Given the description of an element on the screen output the (x, y) to click on. 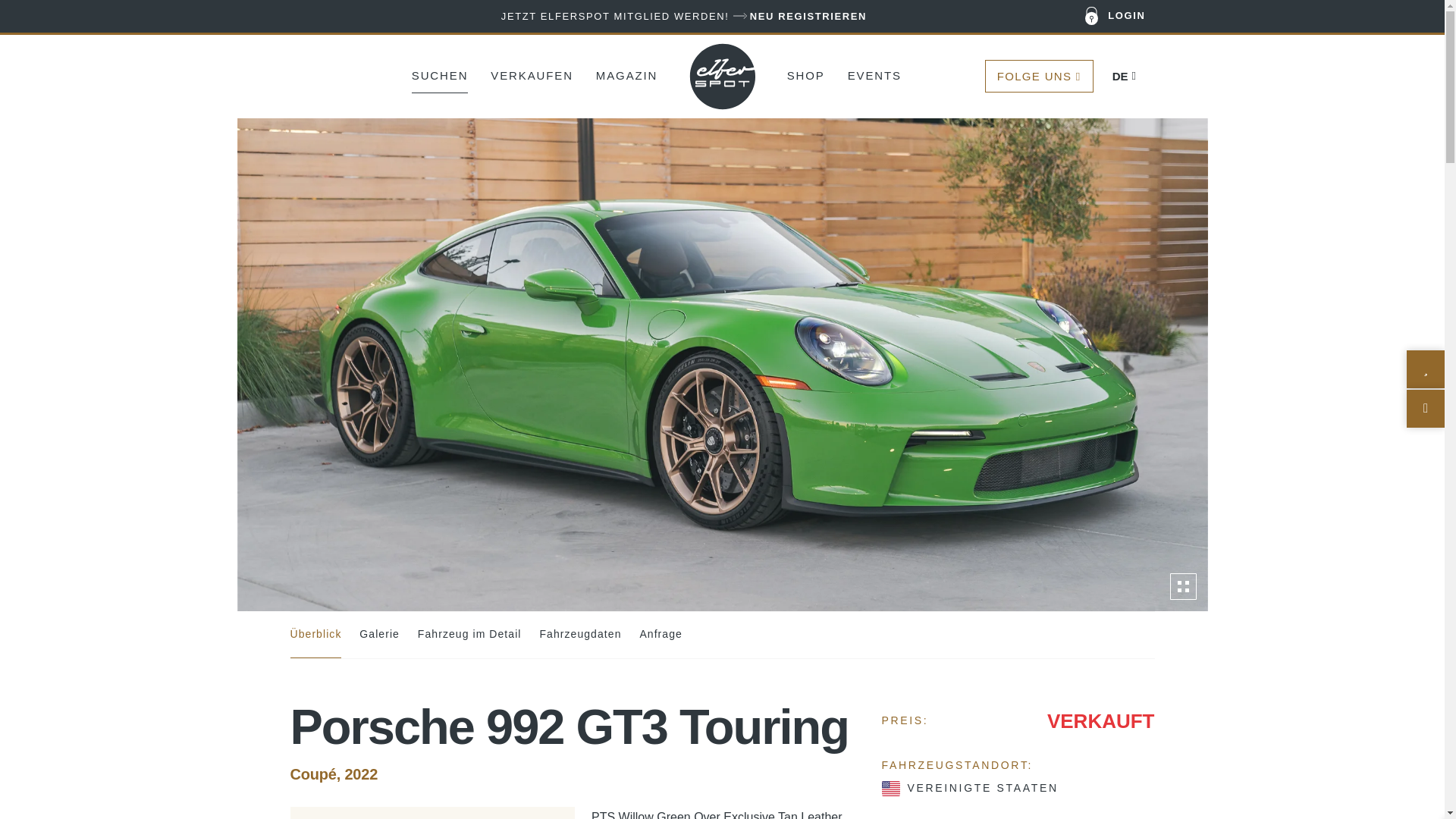
MAGAZIN (626, 74)
LOGIN (1115, 16)
Verkaufen (531, 74)
Events (874, 74)
Elferspot (722, 76)
JETZT ELFERSPOT MITGLIED WERDEN! NEU REGISTRIEREN (683, 15)
Shop (806, 74)
SHOP (806, 74)
SUCHEN (440, 74)
Magazin (626, 74)
VERKAUFEN (531, 74)
Suchen (440, 74)
